Given the description of an element on the screen output the (x, y) to click on. 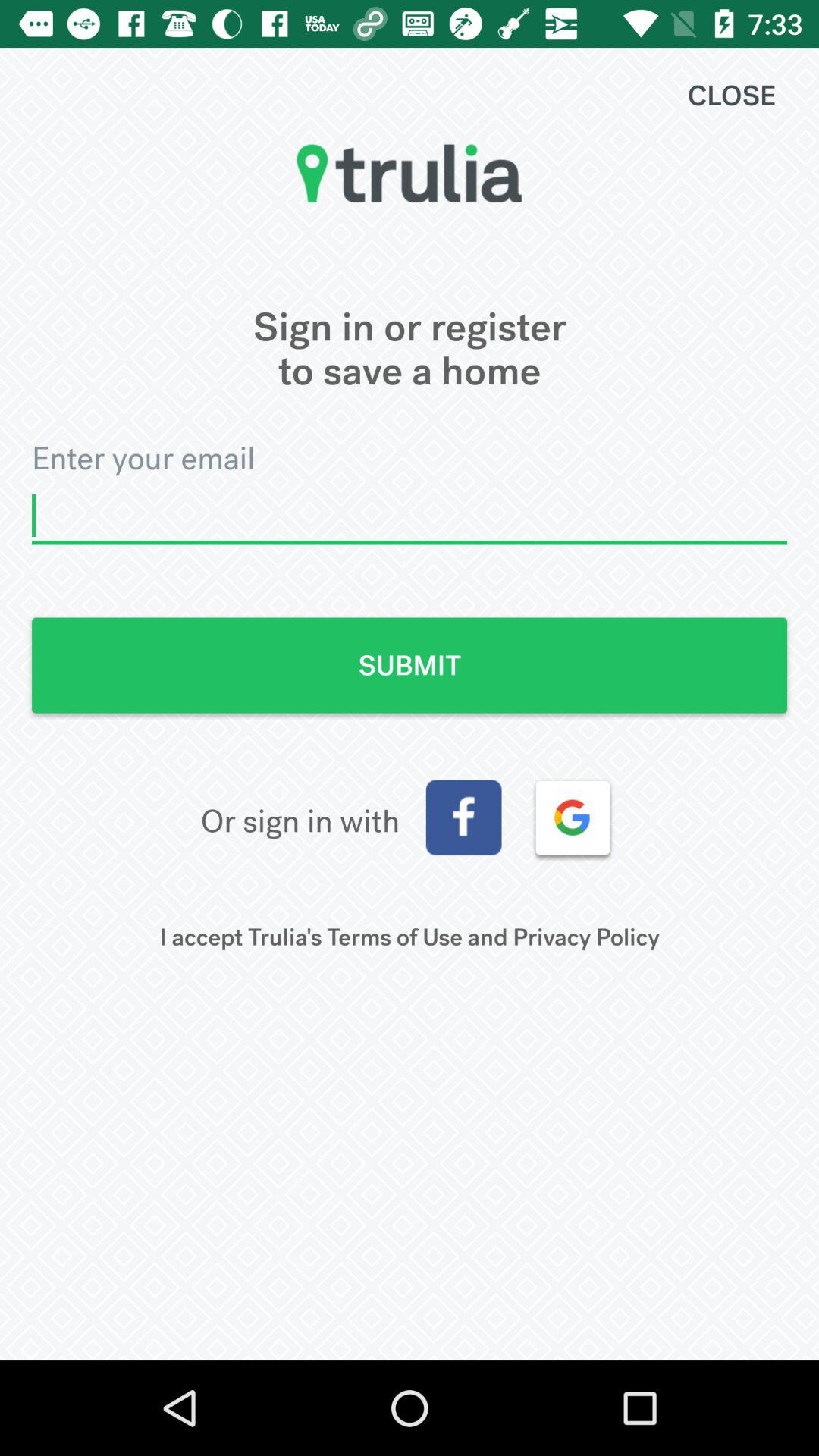
sign in with google account (572, 817)
